Given the description of an element on the screen output the (x, y) to click on. 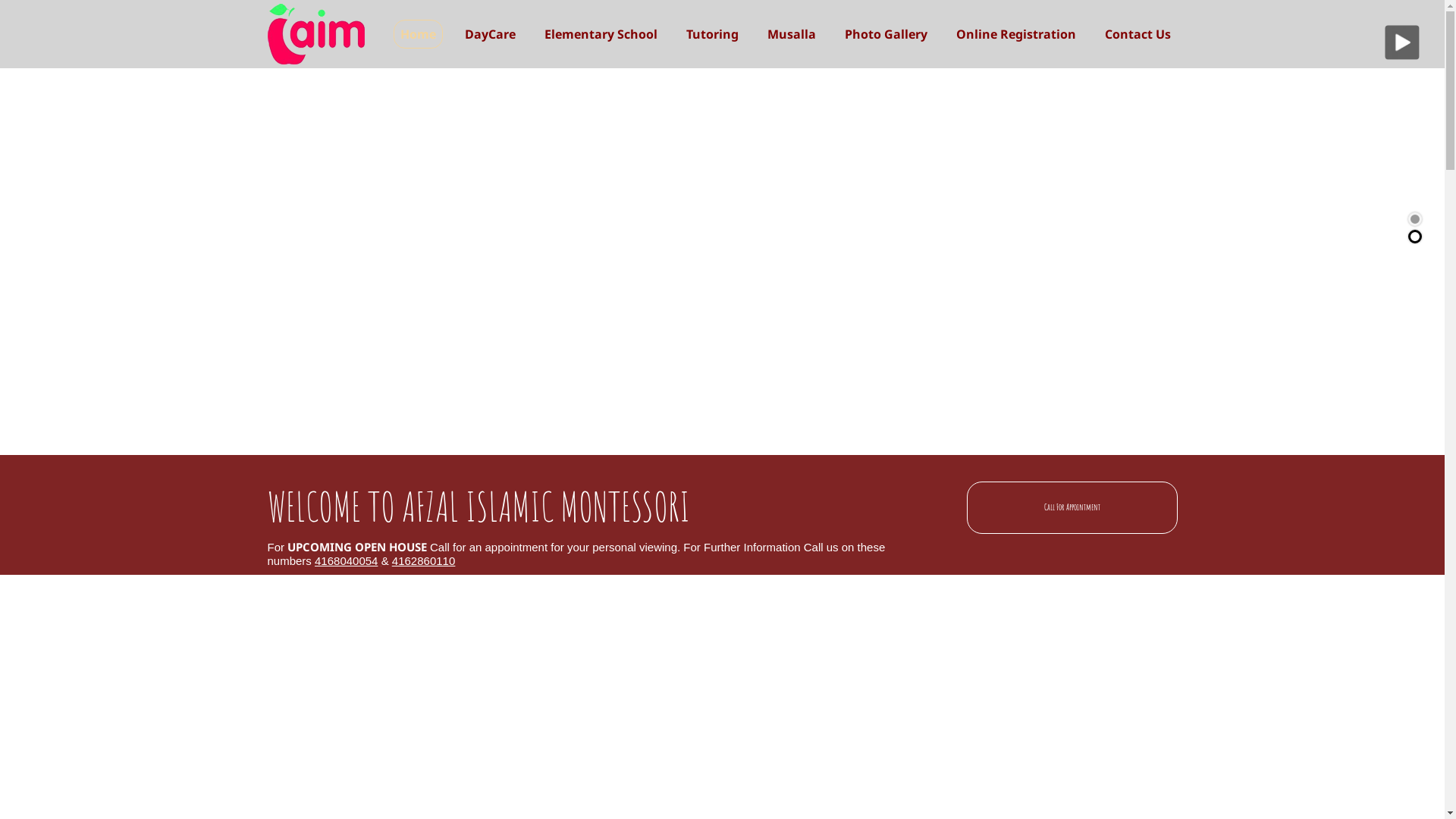
Tutoring Element type: text (712, 33)
Home Element type: text (417, 33)
Musalla Element type: text (790, 33)
4162860110 Element type: text (423, 560)
4168040054 Element type: text (347, 560)
Photo Gallery Element type: text (885, 33)
Contact Us Element type: text (1137, 33)
Call For Appointment Element type: text (1071, 507)
Online Registration Element type: text (1015, 33)
Elementary School Element type: text (599, 33)
DayCare Element type: text (490, 33)
